Given the description of an element on the screen output the (x, y) to click on. 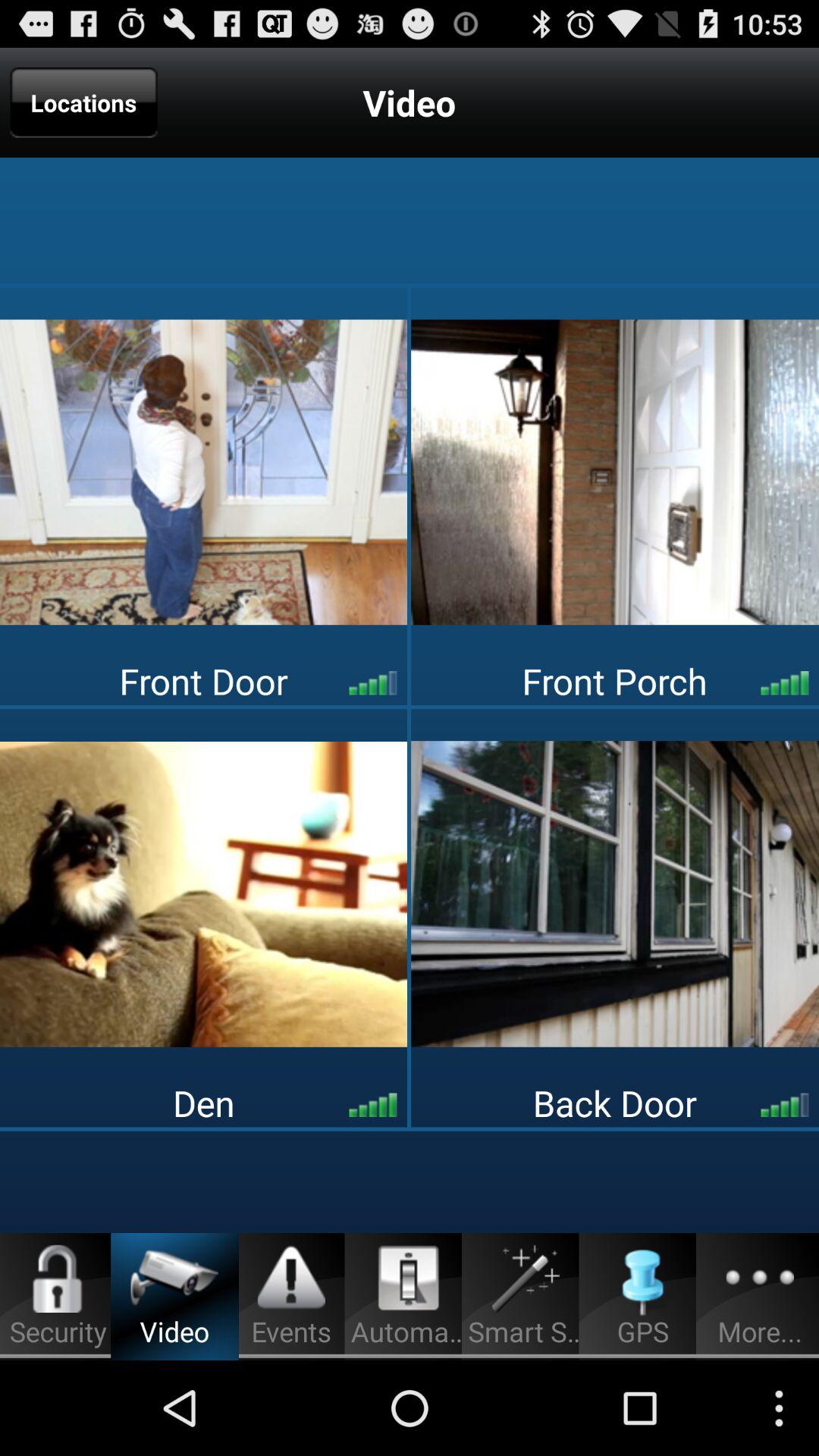
tap the app above the den app (203, 893)
